Given the description of an element on the screen output the (x, y) to click on. 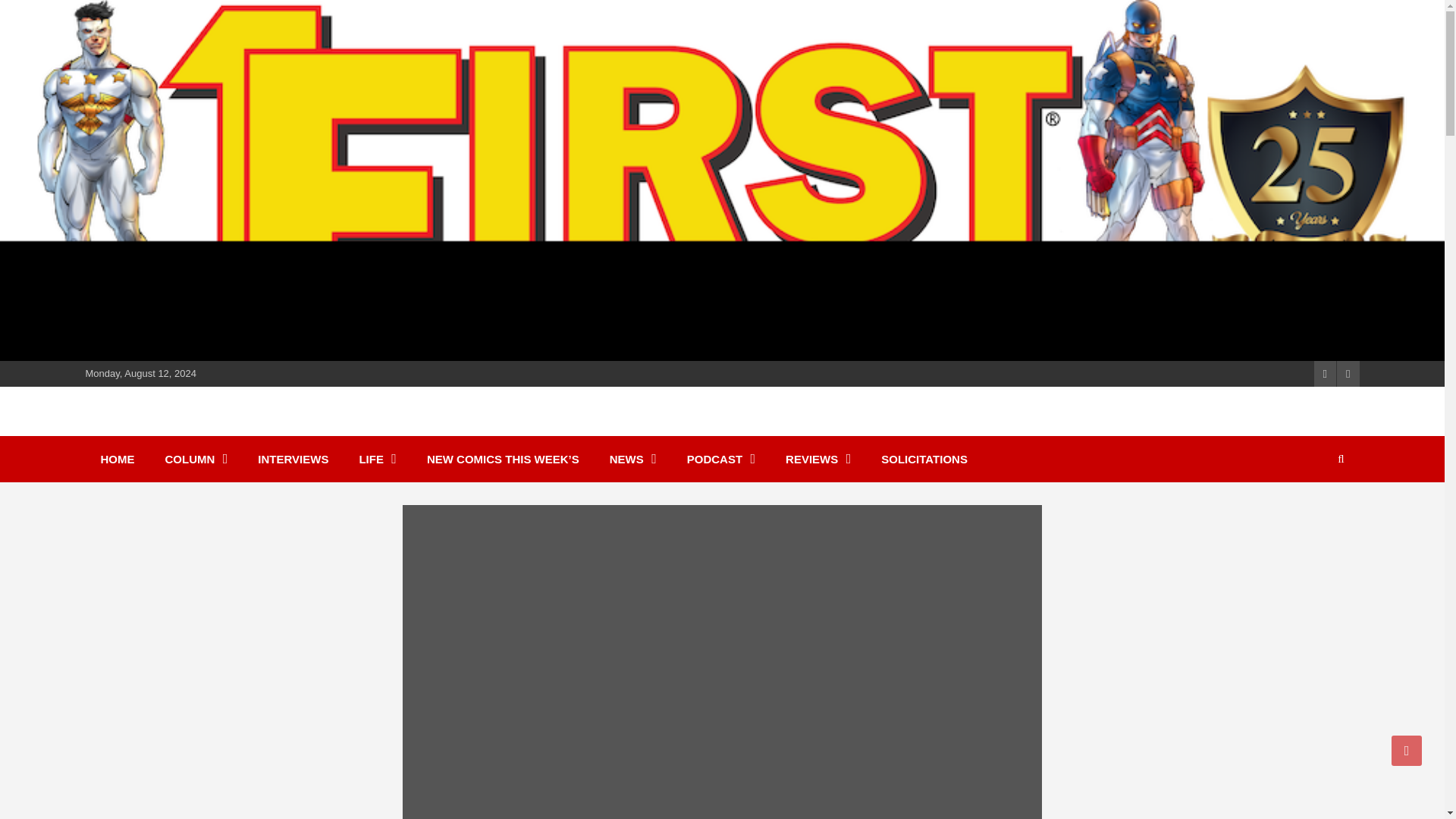
Go to Top (1406, 750)
REVIEWS (818, 458)
LIFE (377, 458)
INTERVIEWS (293, 458)
First Comics News (220, 428)
HOME (116, 458)
PODCAST (720, 458)
COLUMN (196, 458)
NEWS (632, 458)
